Given the description of an element on the screen output the (x, y) to click on. 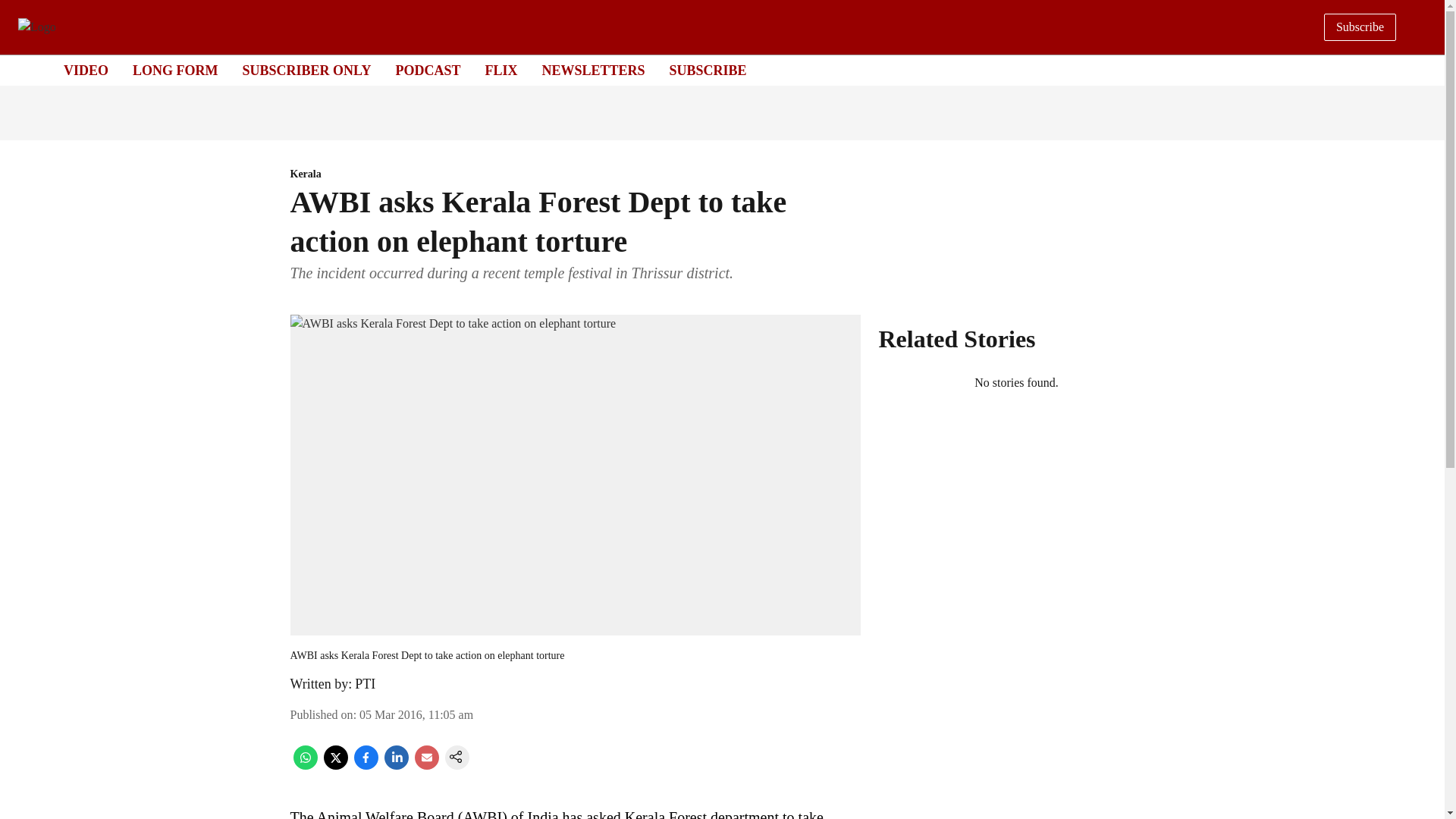
NEWSLETTERS (593, 70)
SUBSCRIBER ONLY (307, 70)
VIDEO (85, 70)
LONG FORM (175, 70)
2016-03-05 11:05 (416, 714)
PODCAST (427, 70)
PTI (365, 683)
SUBSCRIBE (707, 70)
Kerala (574, 174)
